Given the description of an element on the screen output the (x, y) to click on. 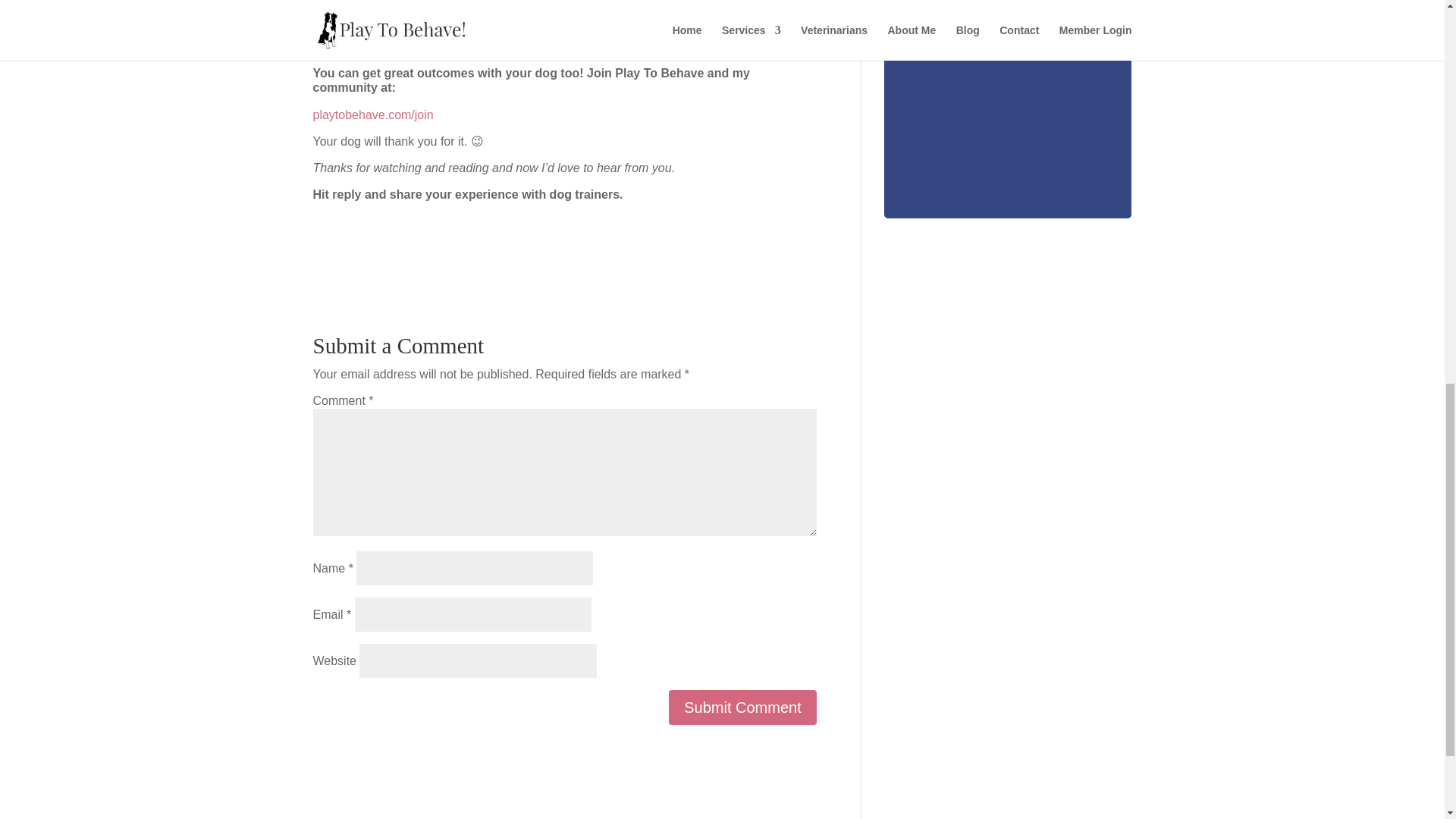
watch this video (620, 46)
Submit Comment (742, 707)
Submit Comment (742, 707)
